Given the description of an element on the screen output the (x, y) to click on. 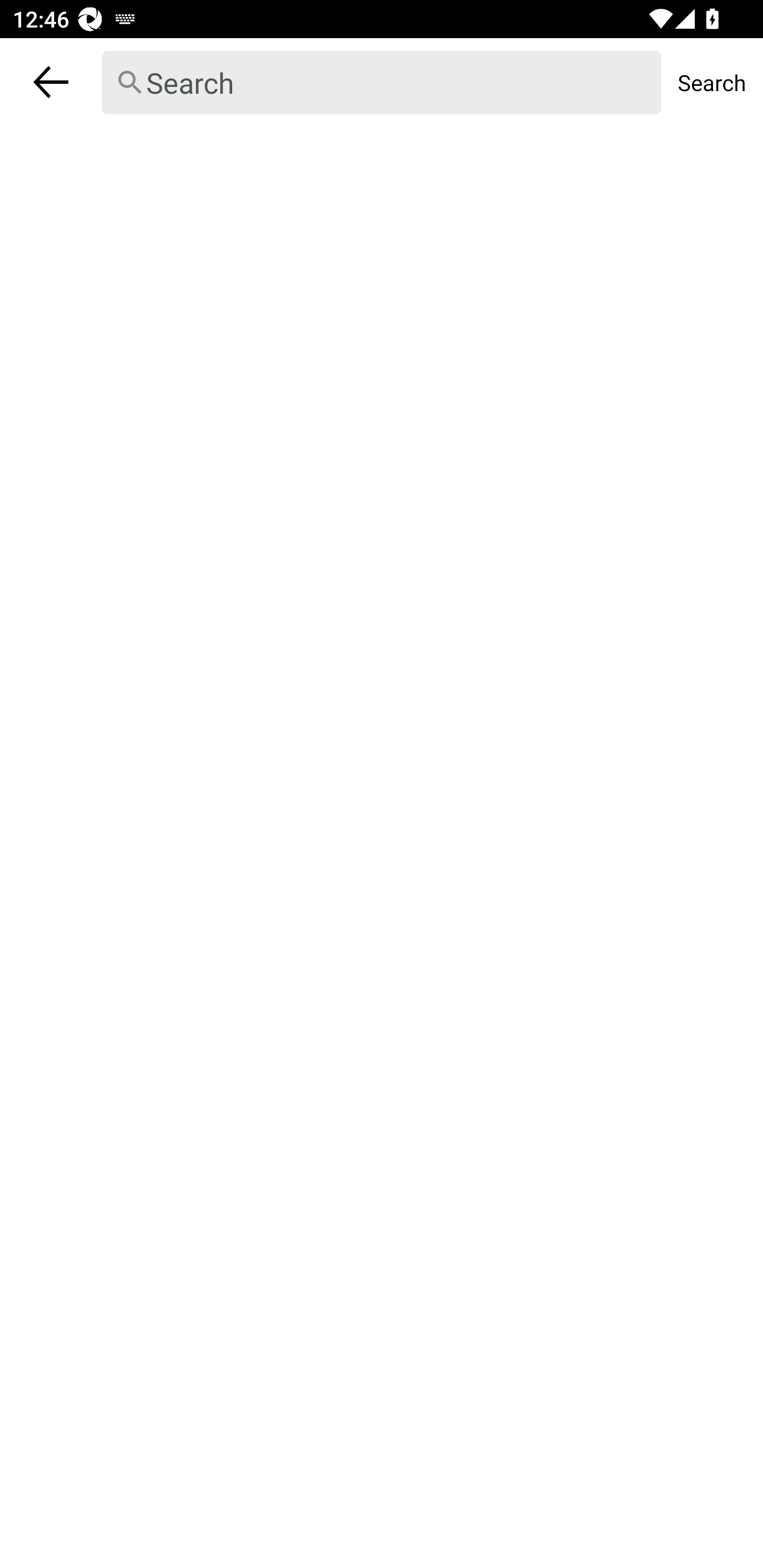
close (50, 81)
search Search (381, 82)
Search (381, 82)
Search (711, 82)
